Given the description of an element on the screen output the (x, y) to click on. 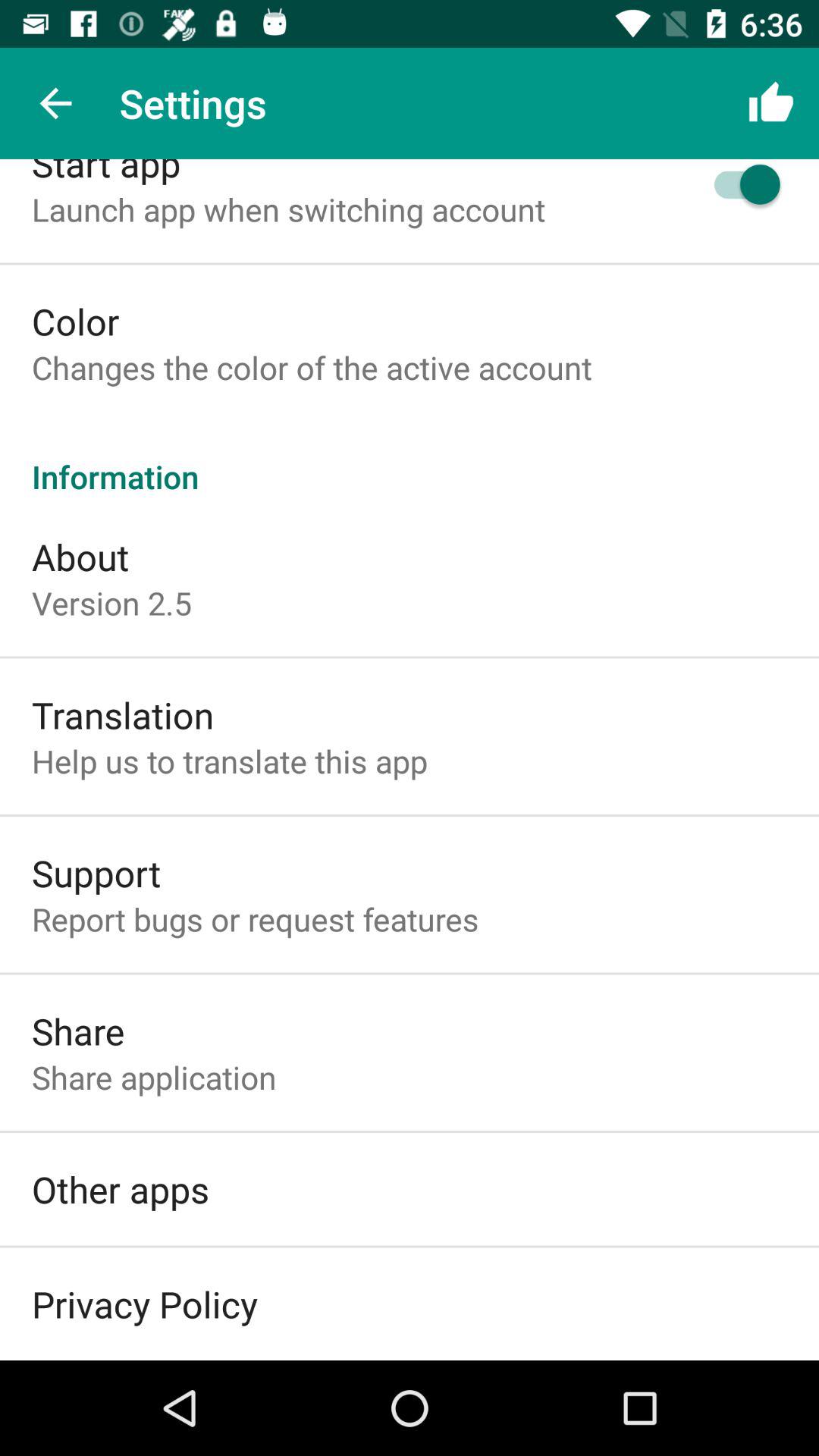
select the other apps icon (120, 1188)
